Given the description of an element on the screen output the (x, y) to click on. 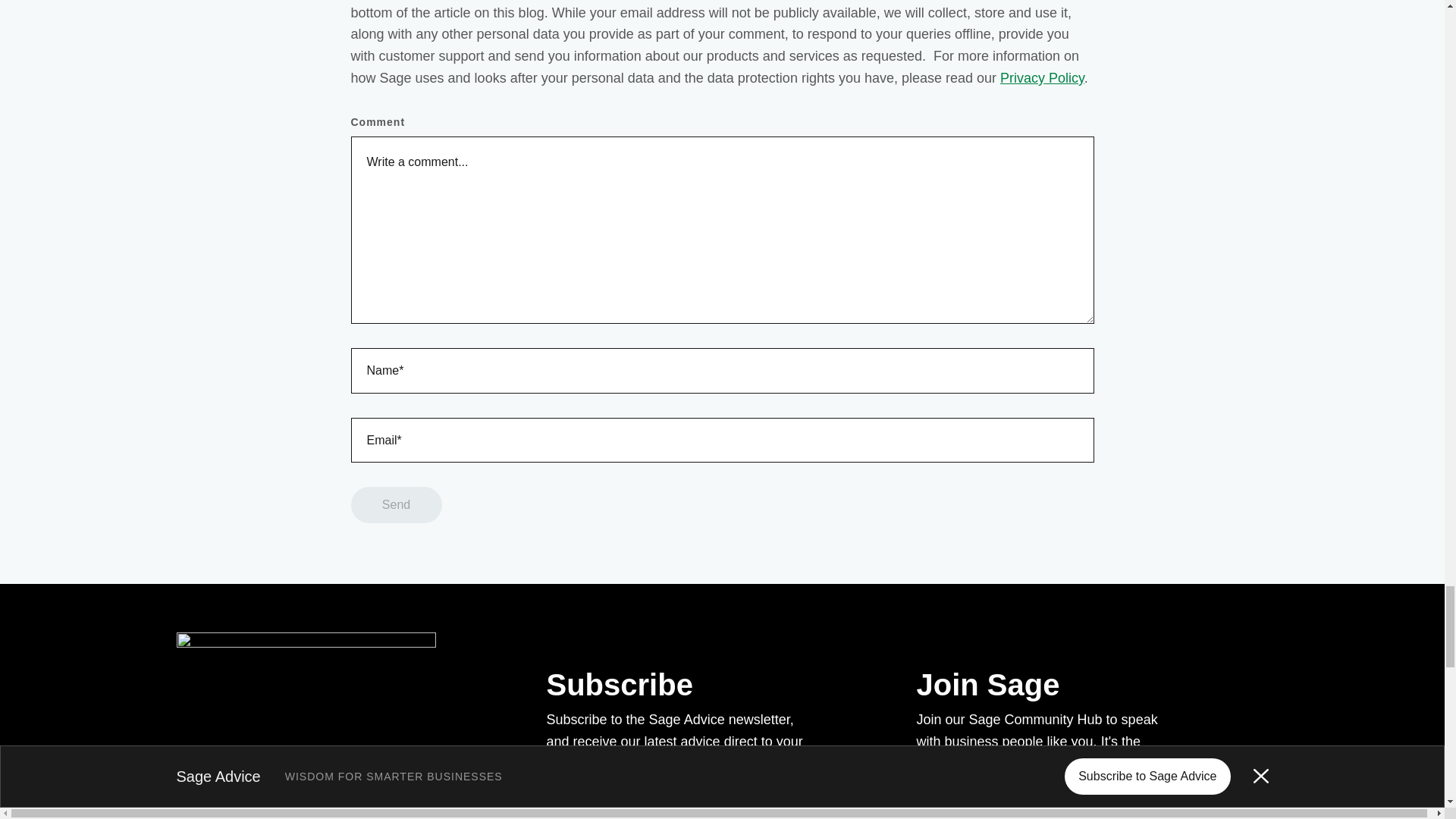
Send (395, 504)
